Given the description of an element on the screen output the (x, y) to click on. 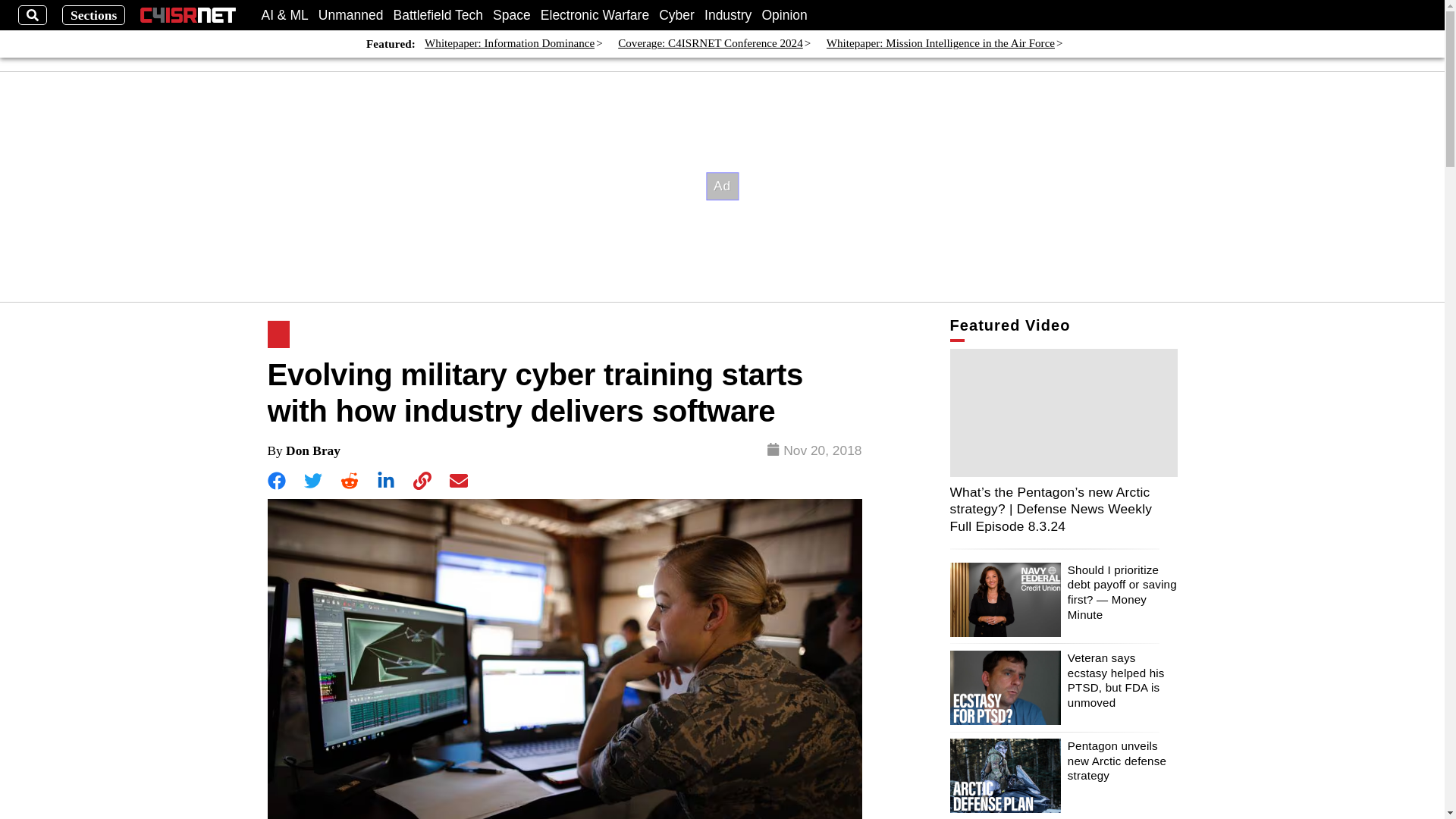
Whitepaper: Mission Intelligence in the Air Force (940, 43)
Industry (727, 14)
Sections (93, 14)
Electronic Warfare (594, 14)
Space (512, 14)
Battlefield Tech (438, 14)
Coverage: C4ISRNET Conference 2024 (710, 43)
Cyber (676, 14)
Unmanned (351, 14)
Opinion (783, 14)
Whitepaper: Information Dominance (509, 43)
C4ISRNet Logo (187, 14)
